Given the description of an element on the screen output the (x, y) to click on. 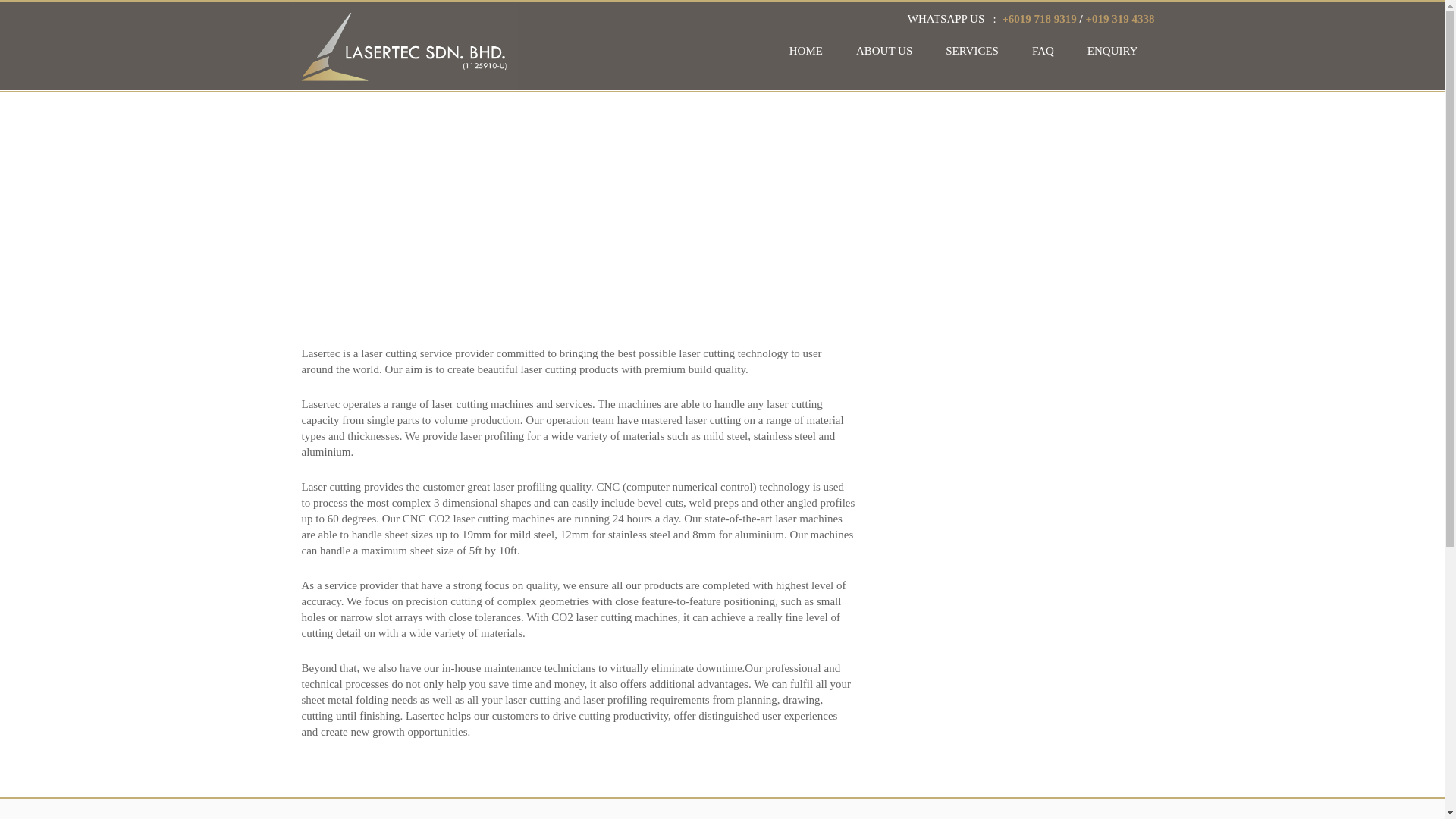
ENQUIRY (1112, 49)
ABOUT US (884, 49)
HOME (806, 49)
FAQ (1042, 49)
SERVICES (971, 49)
